Given the description of an element on the screen output the (x, y) to click on. 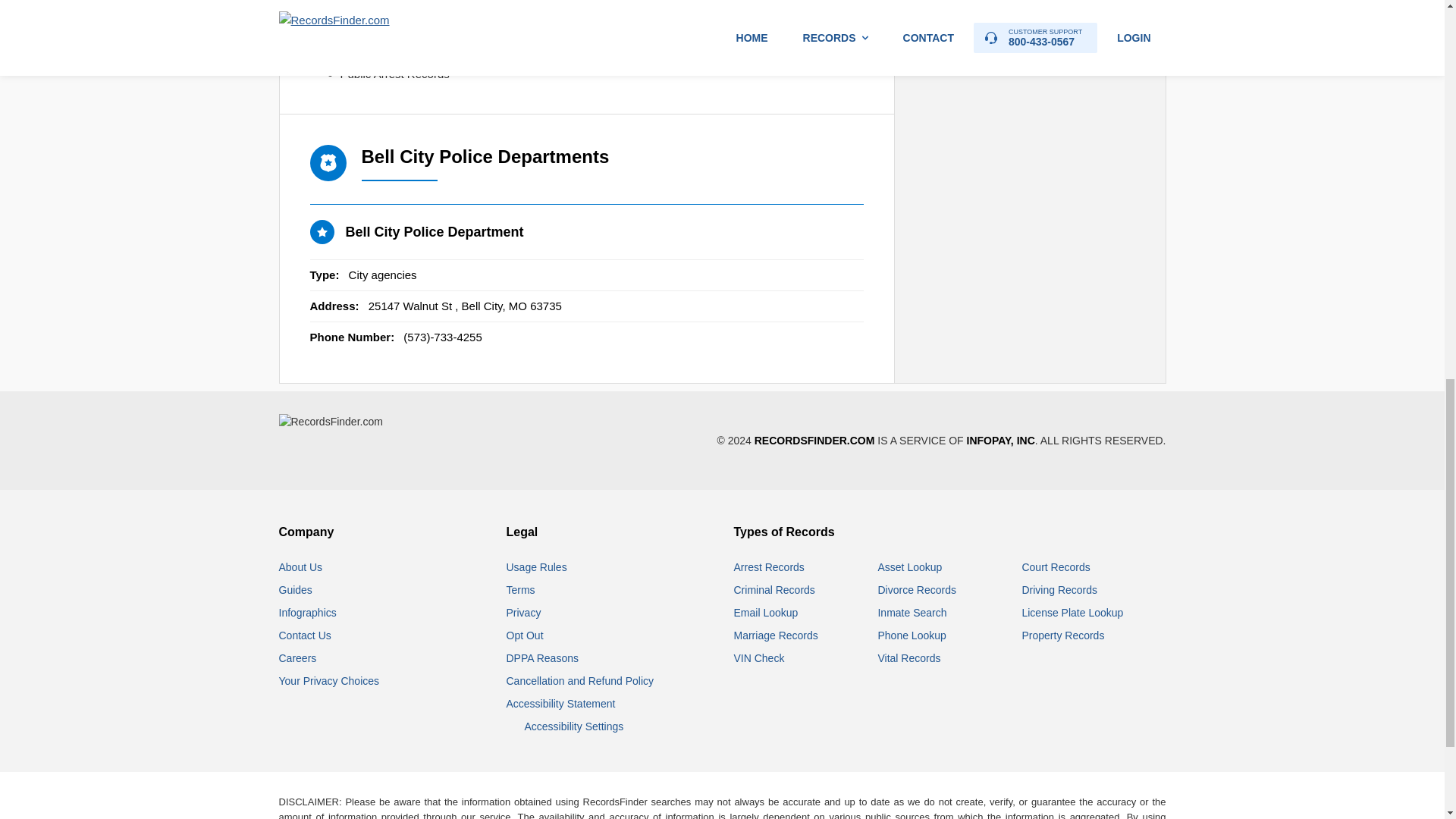
RecordsFinder.com Accessibility Statement (560, 703)
Your Privacy Choices (329, 680)
Contact RecordsFinder.com (305, 635)
RecordsFinder.com Terms and Conditions (520, 589)
RecordsFinder.com Usage Rules (536, 567)
Pineville (943, 52)
View Public Records Infographics and Statistics (307, 612)
RecordsFinder.com Cancellation and Refund Policy (579, 680)
Oregon (942, 21)
RecordsFinder.com Privacy Policy (523, 612)
Guides and How tos (296, 589)
RecordsFinder.com DPPA Reasons (542, 657)
About RecordsFinder.com (301, 567)
Careers at RecordsFinder.com (298, 657)
RecordsFinder.com Opt Out Instructions (524, 635)
